Given the description of an element on the screen output the (x, y) to click on. 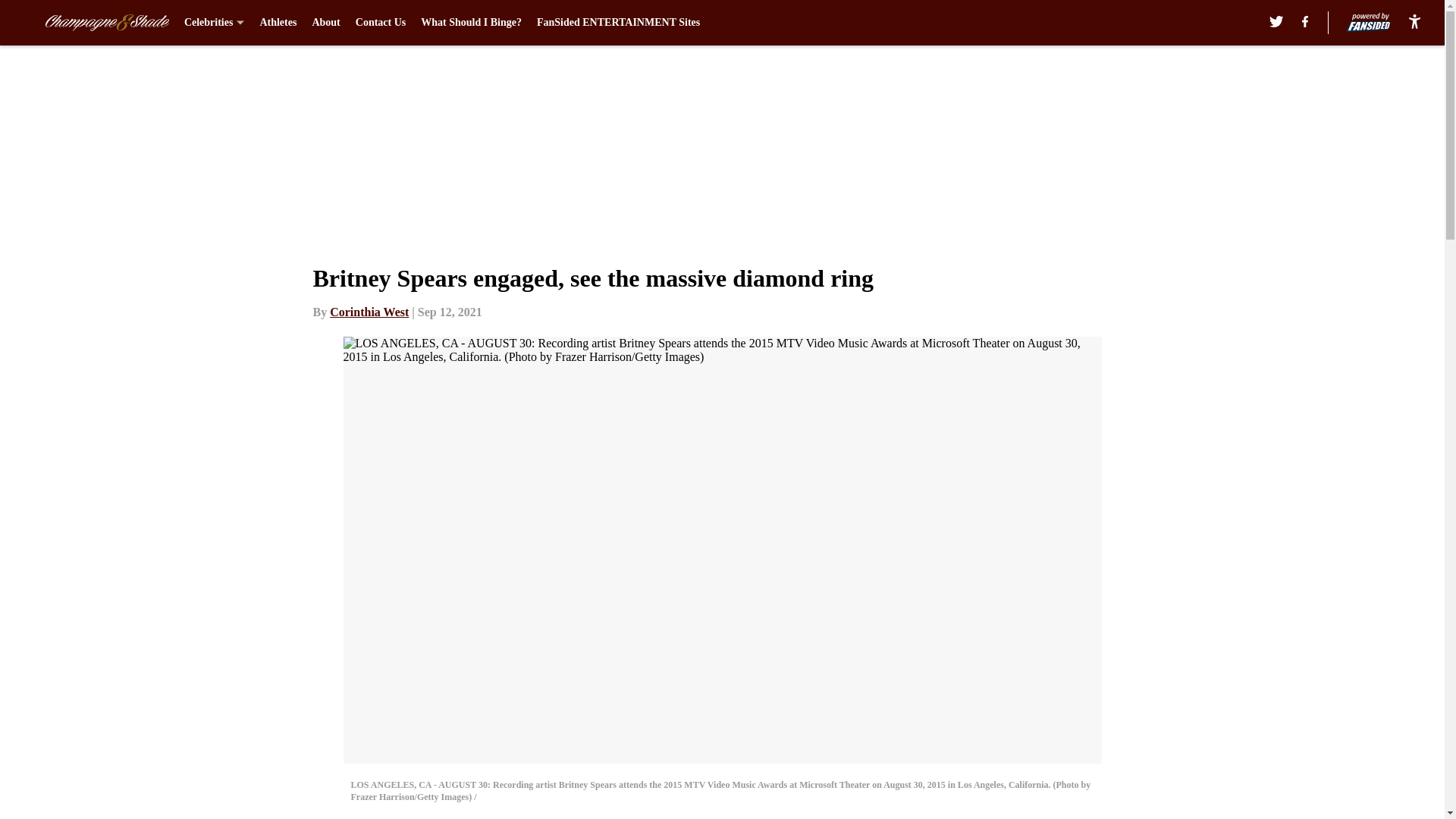
What Should I Binge? (470, 22)
About (325, 22)
Corinthia West (369, 311)
Athletes (278, 22)
FanSided ENTERTAINMENT Sites (618, 22)
Contact Us (380, 22)
